Given the description of an element on the screen output the (x, y) to click on. 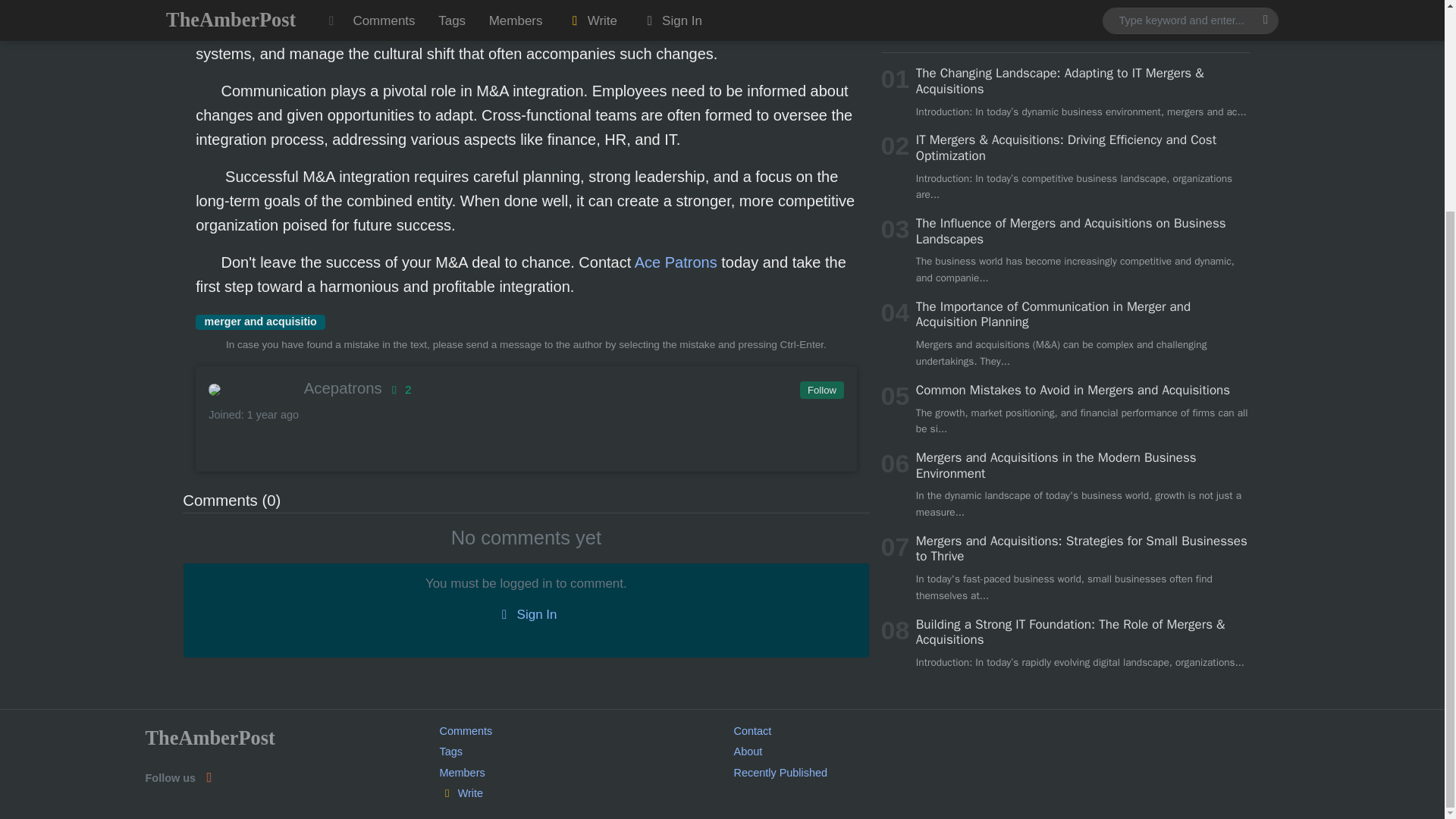
Sign In (525, 613)
merger and acquisitio (259, 322)
Rating (399, 389)
Acepatrons 2 (525, 388)
Common Mistakes to Avoid in Mergers and Acquisitions (1072, 150)
merger and acquisitio (259, 322)
Follow (821, 390)
